Given the description of an element on the screen output the (x, y) to click on. 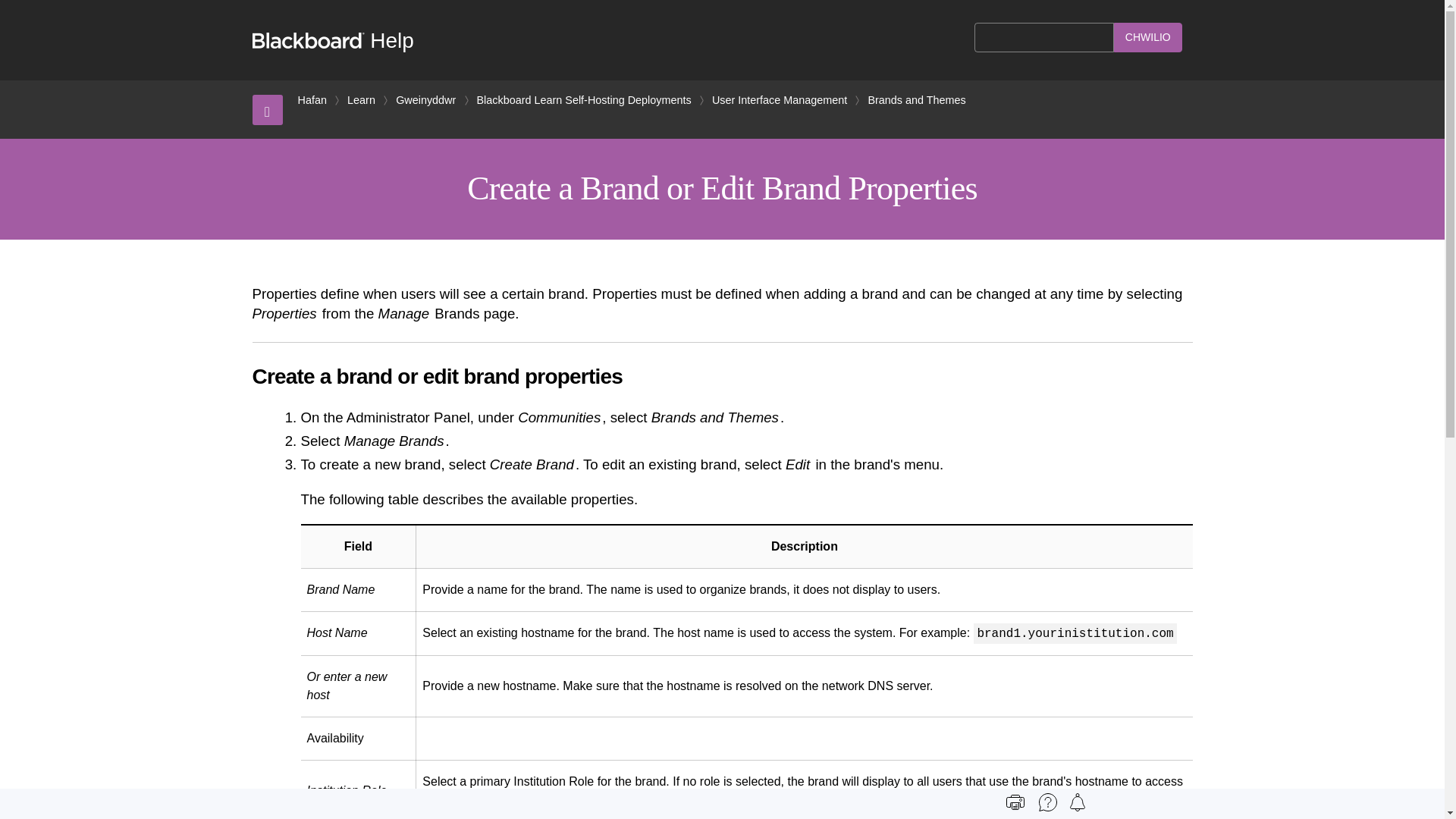
Blackboard Learn Self-Hosting Deployments (584, 99)
Gweinyddwr (425, 99)
Learn (361, 99)
Hafan (311, 99)
Chwilio (1147, 37)
User Interface Management (779, 99)
Chwilio (1147, 37)
Blackboard Help (332, 40)
Brands and Themes (916, 99)
